Given the description of an element on the screen output the (x, y) to click on. 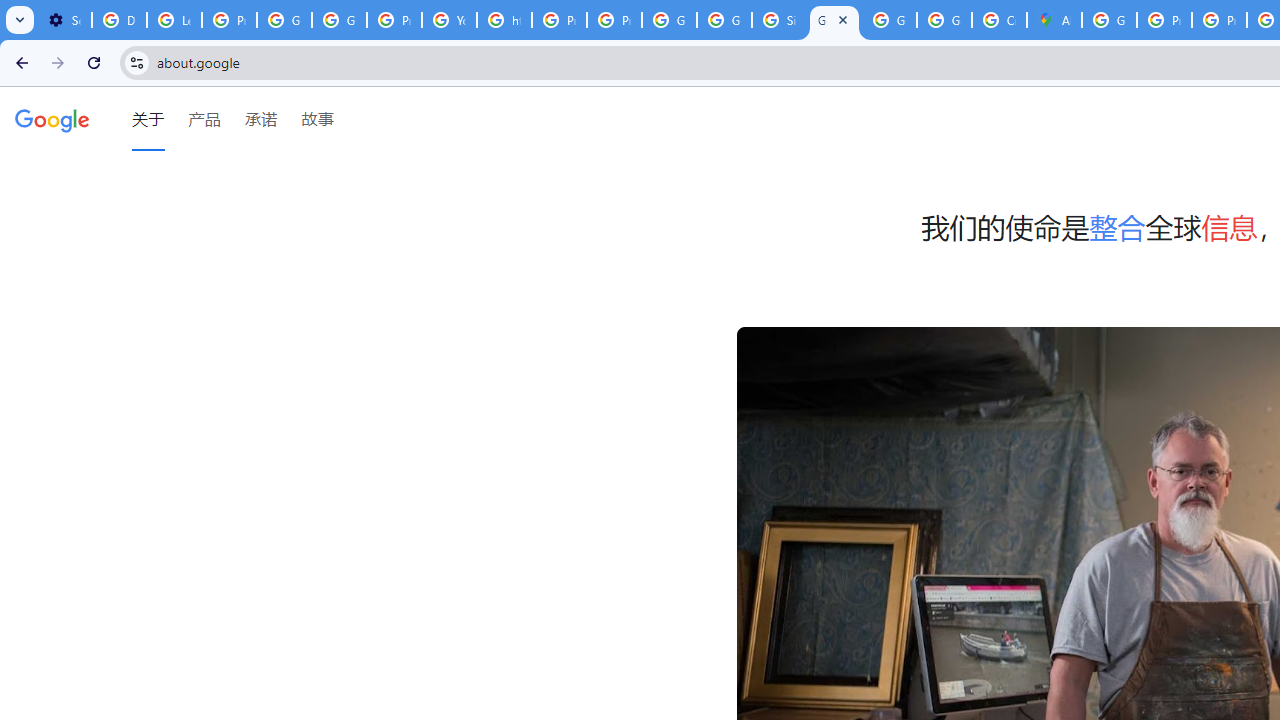
Settings - On startup (64, 20)
